Given the description of an element on the screen output the (x, y) to click on. 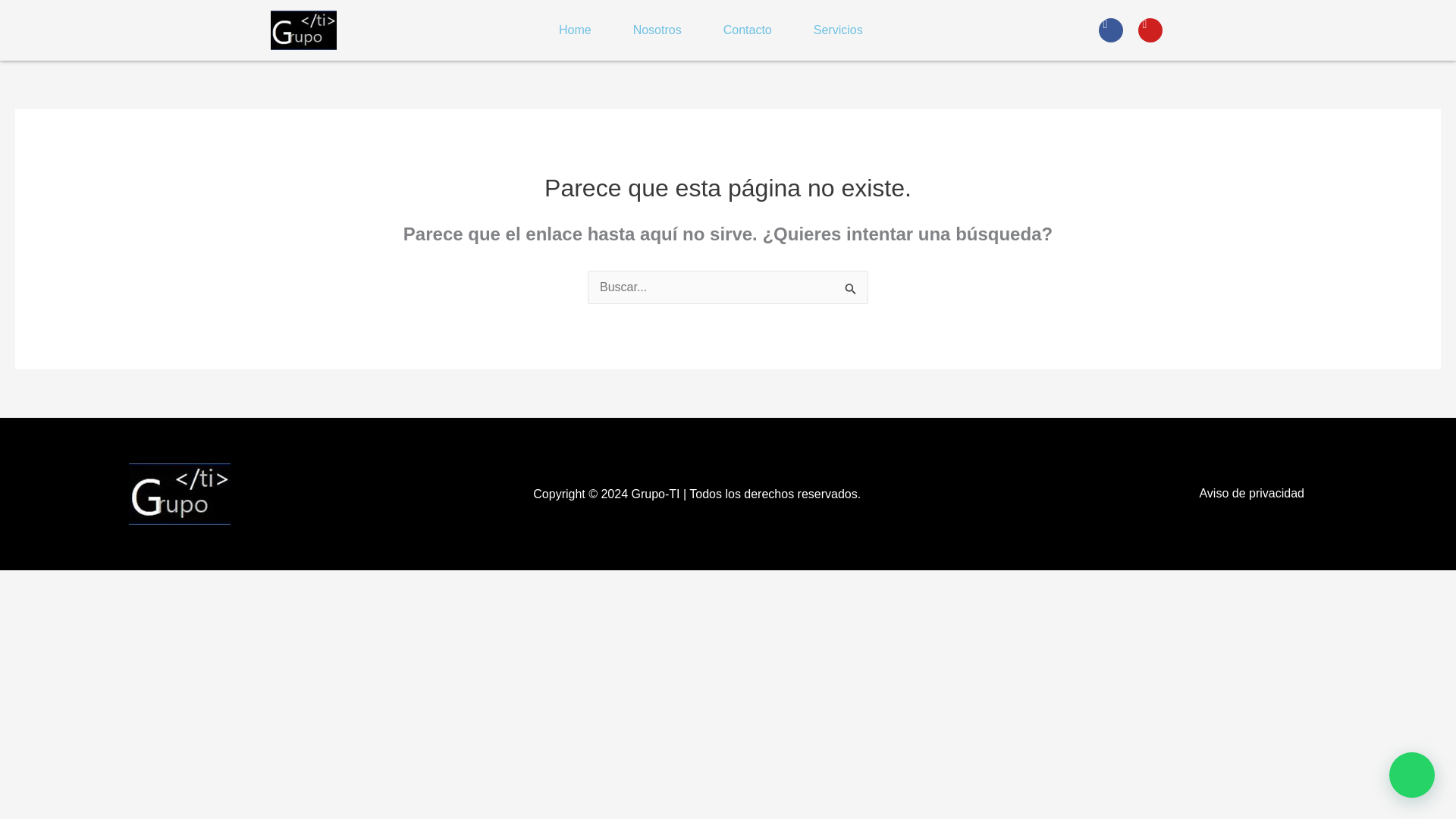
Facebook (1110, 30)
Home (574, 30)
Nosotros (657, 30)
Youtube (1149, 30)
Aviso de privacidad (1251, 493)
Contacto (747, 30)
Servicios (838, 30)
